Given the description of an element on the screen output the (x, y) to click on. 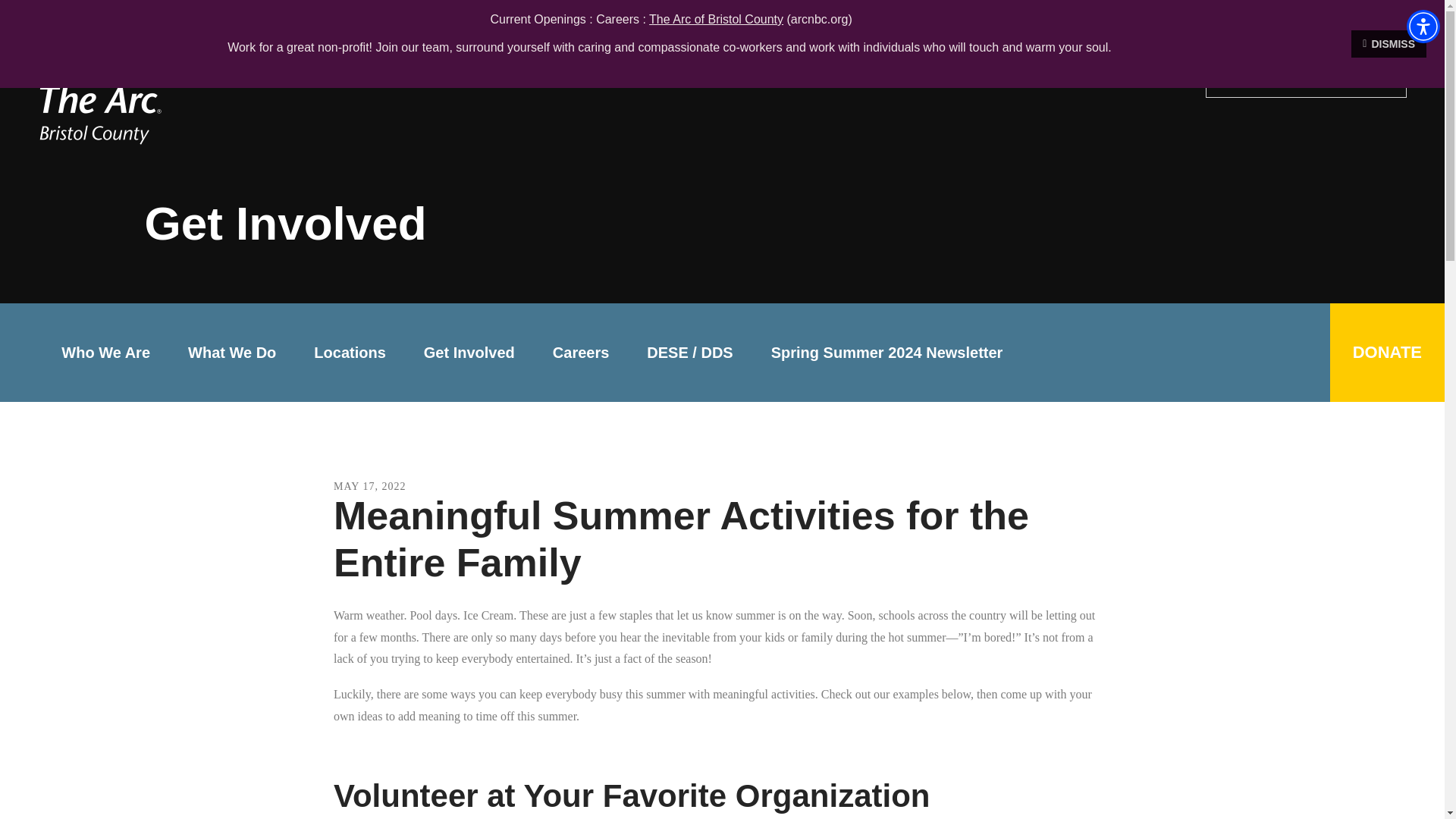
logo (132, 83)
Accessibility Menu (1422, 26)
